Given the description of an element on the screen output the (x, y) to click on. 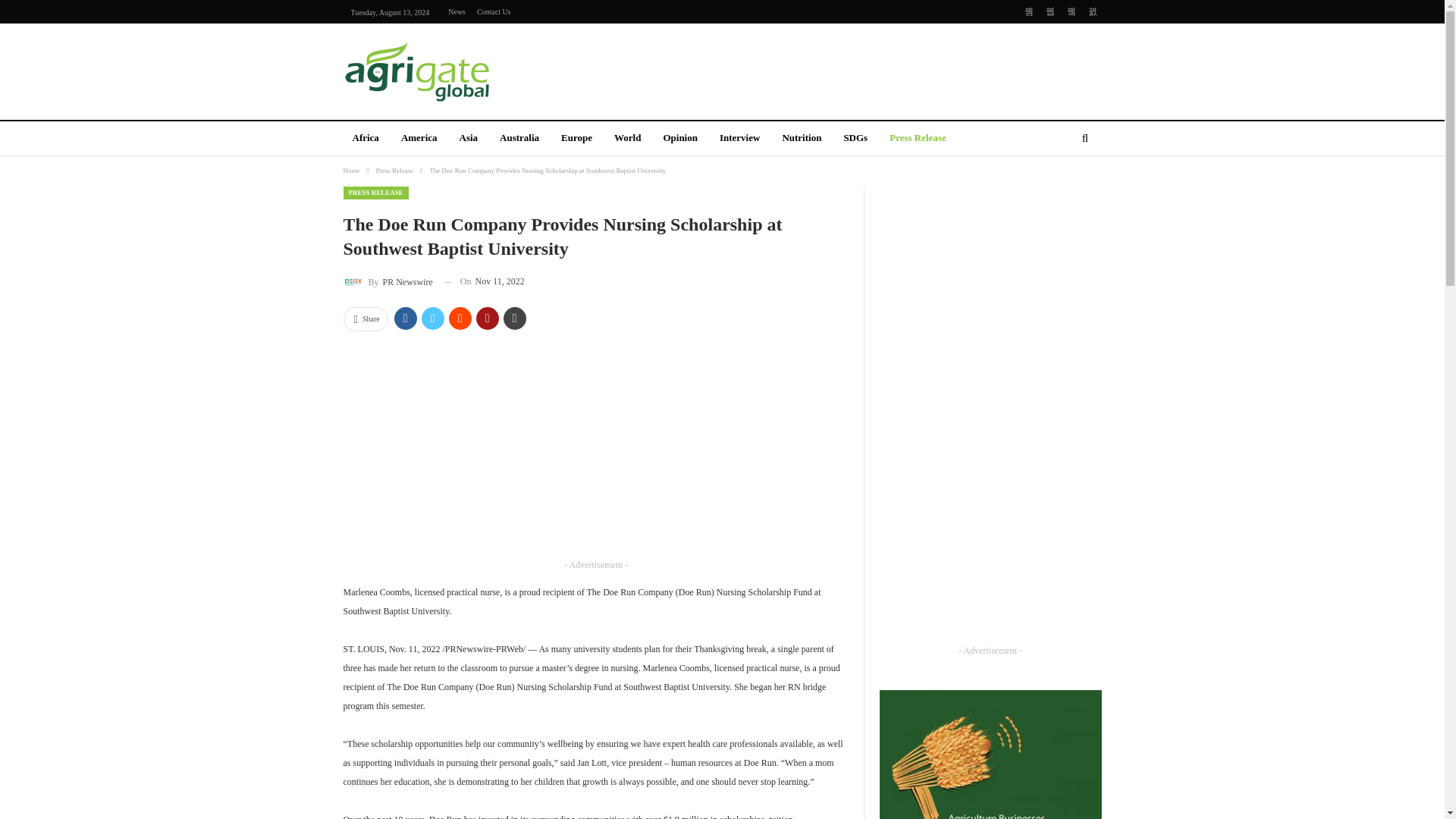
Contact Us (494, 11)
SDGs (855, 139)
News (456, 11)
Interview (739, 139)
Opinion (679, 139)
Home (350, 170)
Asia (468, 139)
PRESS RELEASE (374, 192)
Press Release (917, 139)
Browse Author Articles (387, 281)
